Given the description of an element on the screen output the (x, y) to click on. 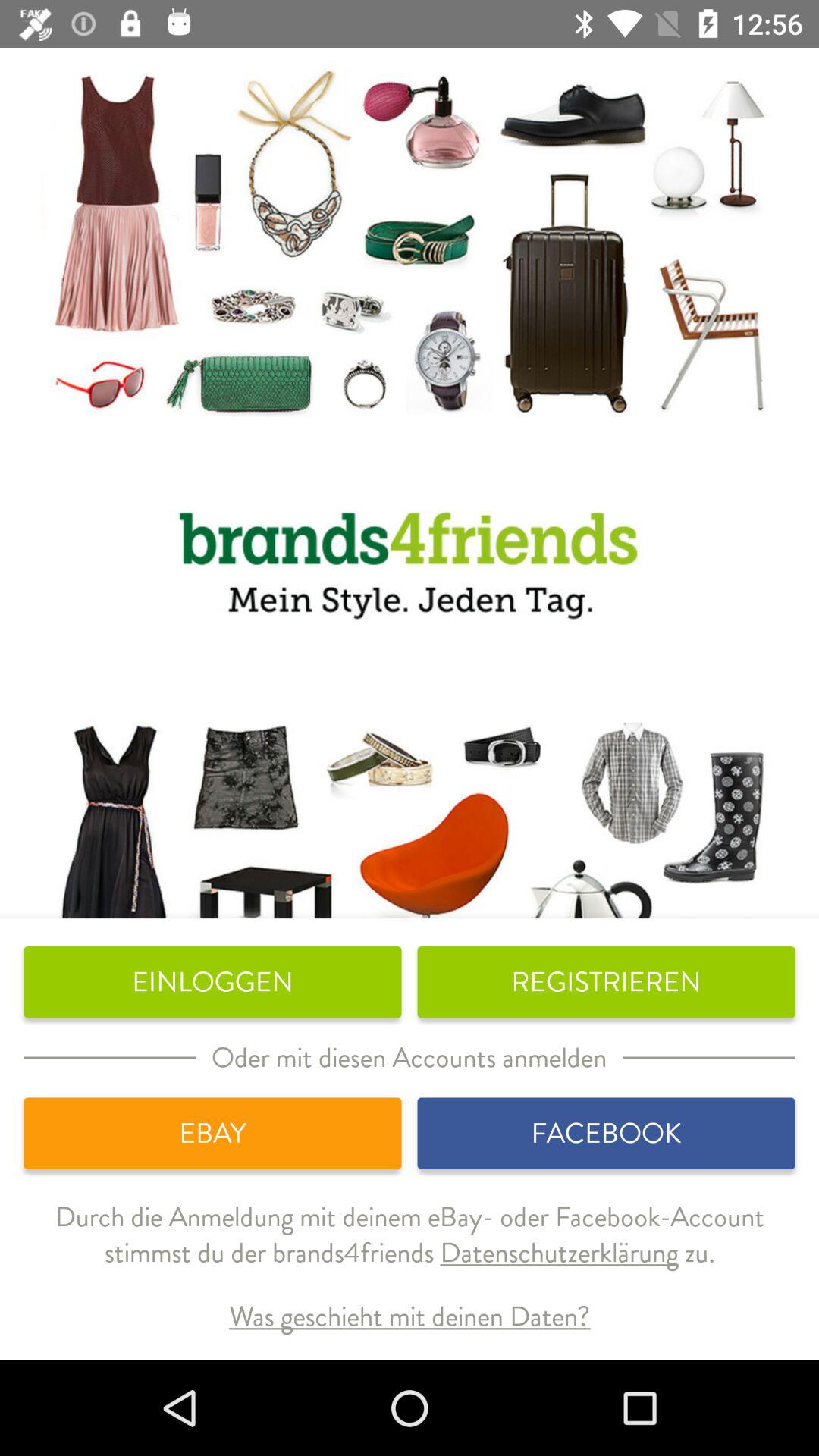
turn off icon below ebay (409, 1246)
